Given the description of an element on the screen output the (x, y) to click on. 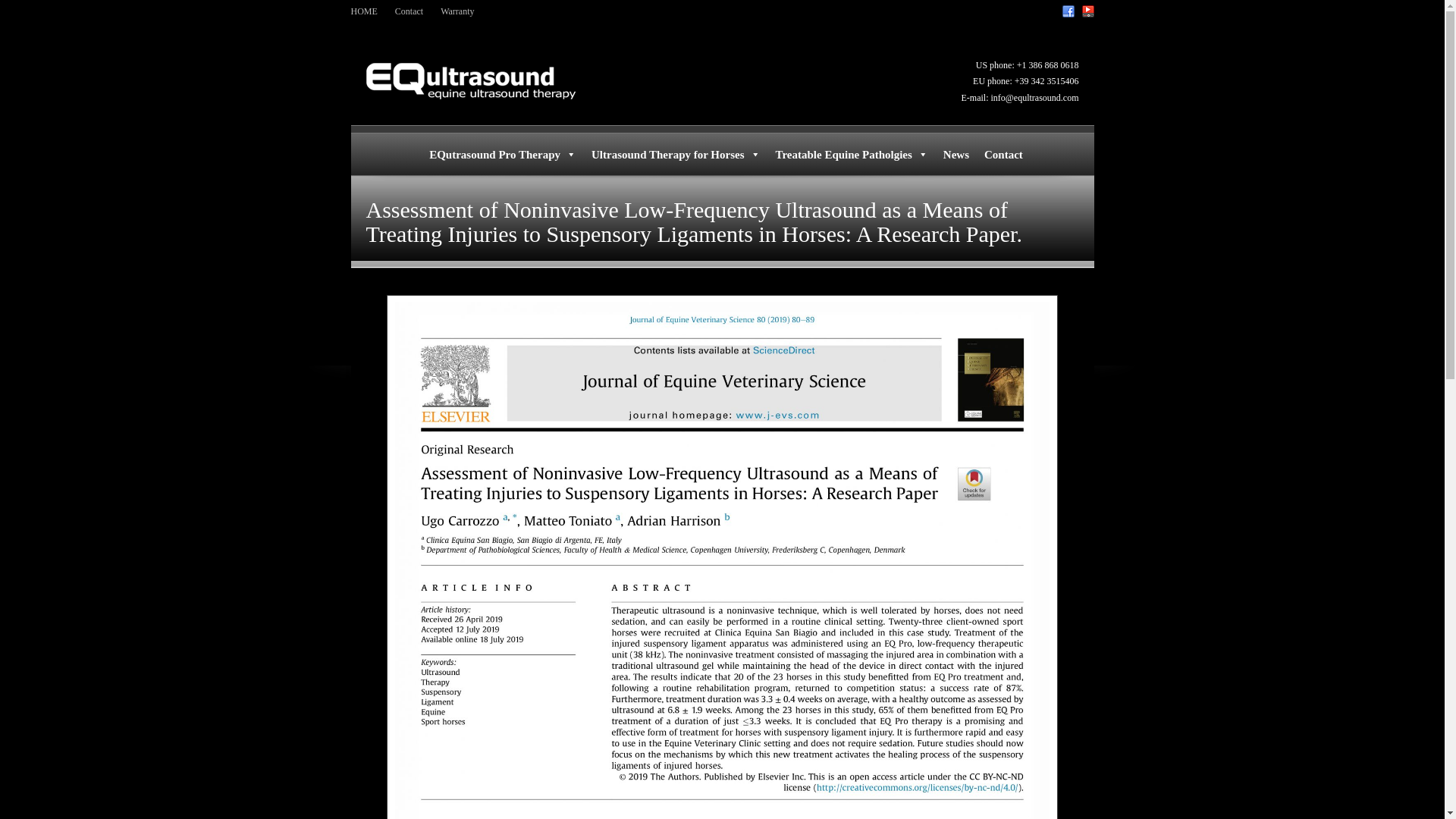
Contact (1003, 154)
Treatable Equine Patholgies (852, 154)
Warranty (457, 10)
HOME (363, 10)
Contact (408, 10)
EQutrasound Pro Therapy (502, 154)
News (956, 154)
Ultrasound Therapy for Horses (675, 154)
